Given the description of an element on the screen output the (x, y) to click on. 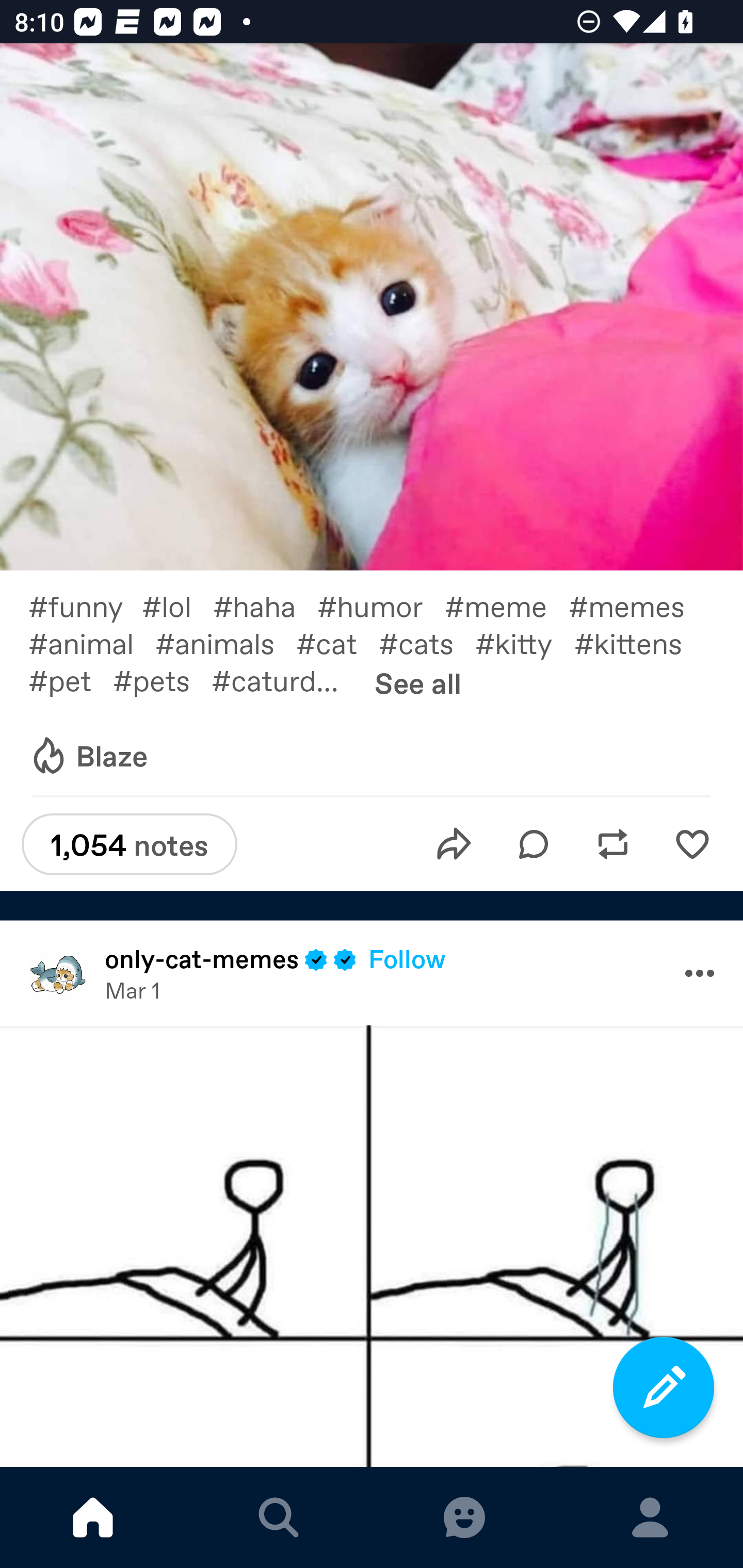
#funny (84, 605)
#lol (177, 605)
#haha (265, 605)
#humor (381, 605)
#meme (506, 605)
#memes (637, 605)
#animal (91, 642)
#animals (225, 642)
#cat (337, 642)
#cats (426, 642)
#kitty (524, 642)
#kittens (638, 642)
#pet (70, 679)
#pets (161, 679)
#caturd… (285, 679)
See all (417, 682)
Blaze Blaze Blaze (88, 756)
Share post to message (454, 844)
Reply (533, 844)
Reblog (612, 844)
Like (691, 844)
1,054 notes (129, 843)
Follow (406, 958)
Compose a new post (663, 1387)
DASHBOARD (92, 1517)
EXPLORE (278, 1517)
MESSAGES (464, 1517)
ACCOUNT (650, 1517)
